Given the description of an element on the screen output the (x, y) to click on. 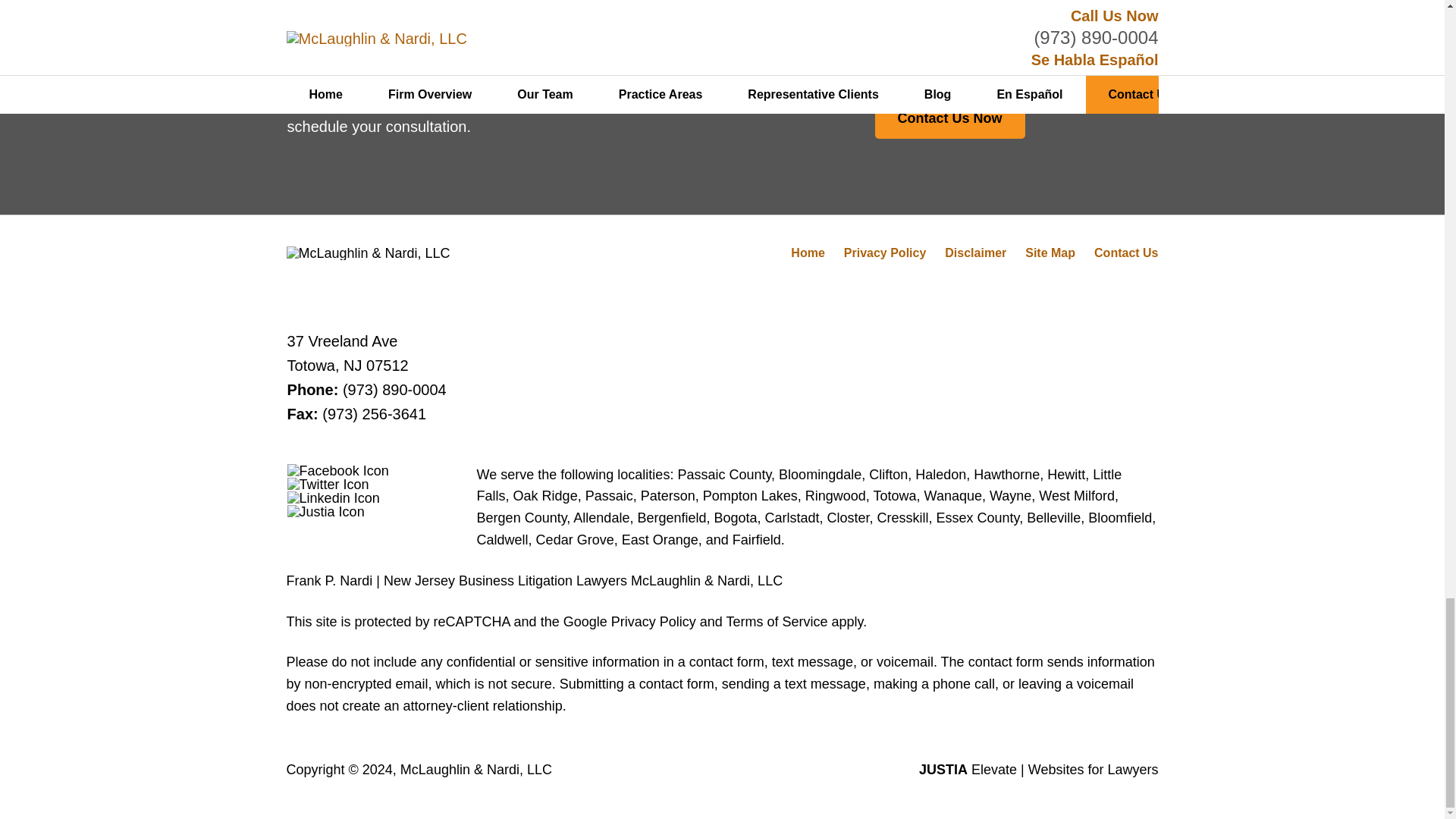
Call Us Today (381, 54)
Linkedin (333, 498)
Terms of Service (776, 621)
Contact Us (1125, 252)
Contact Us Now (950, 118)
Facebook (337, 470)
Justia (325, 511)
Privacy Policy (885, 252)
Disclaimer (975, 252)
Twitter (327, 484)
Home (807, 252)
Site Map (1050, 252)
Google Privacy Policy (629, 621)
